Given the description of an element on the screen output the (x, y) to click on. 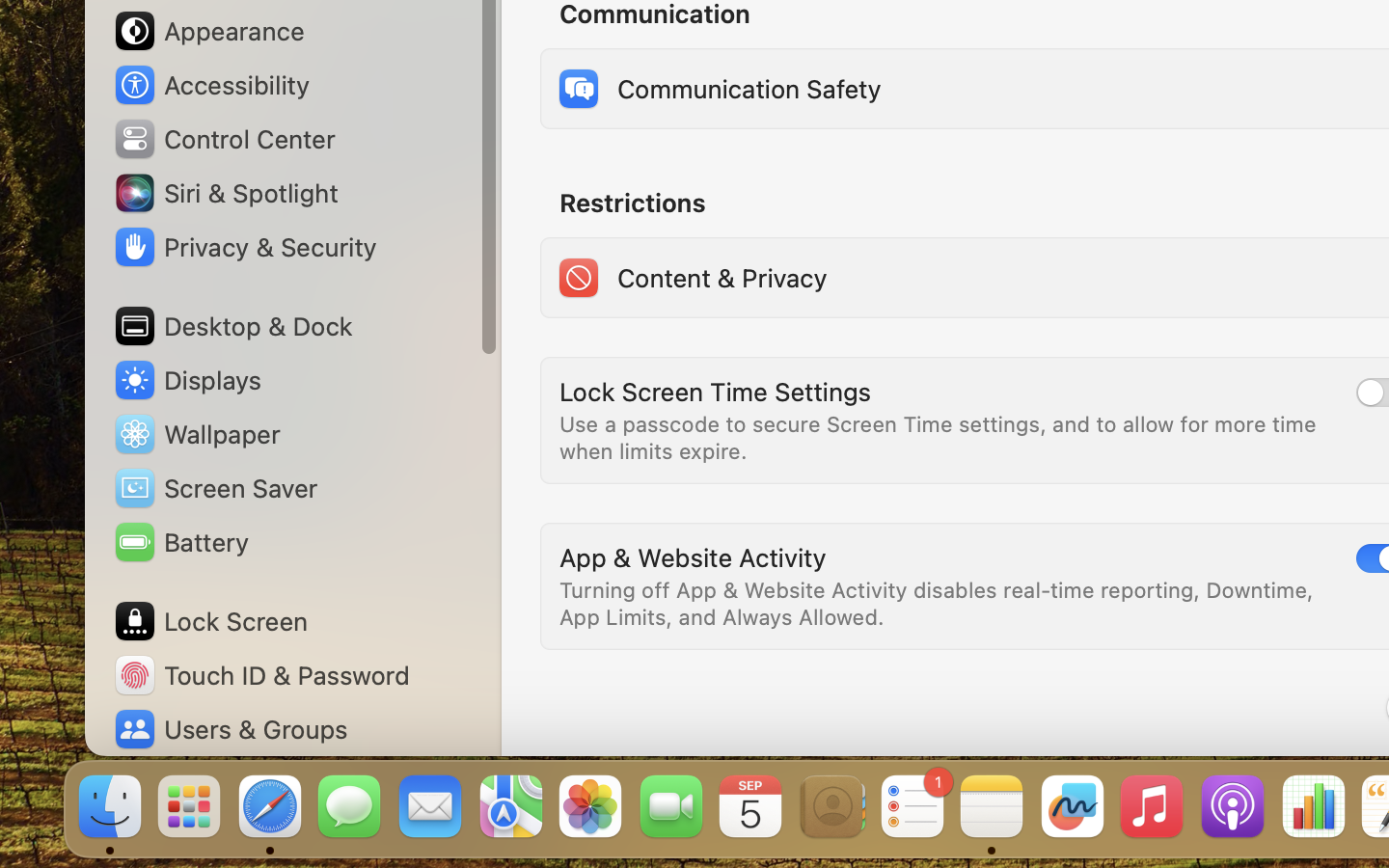
Siri & Spotlight Element type: AXStaticText (224, 192)
Lock Screen Time Settings Element type: AXStaticText (715, 391)
